Given the description of an element on the screen output the (x, y) to click on. 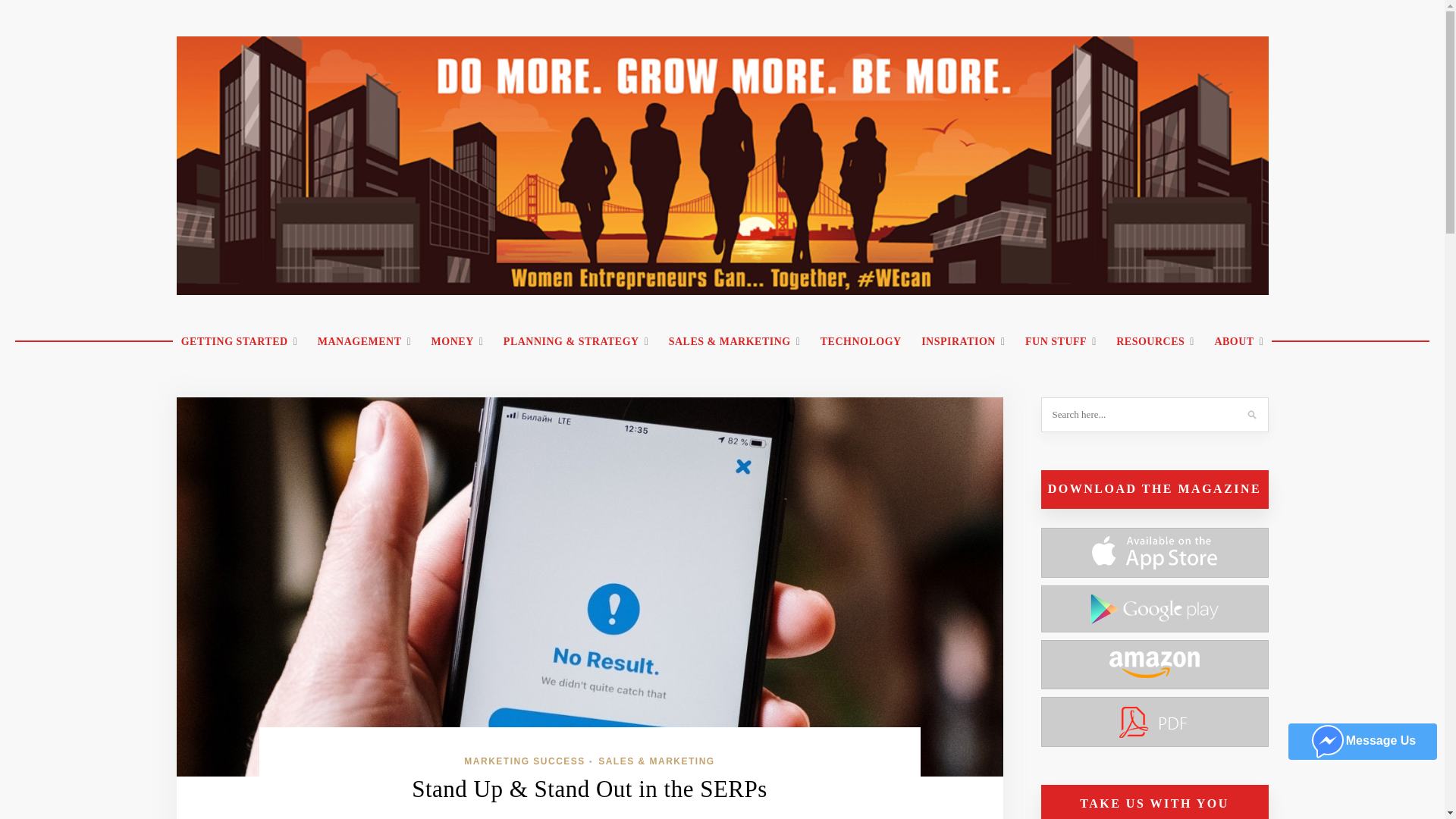
INSPIRATION (962, 341)
MANAGEMENT (363, 341)
GETTING STARTED (239, 341)
FUN STUFF (1060, 341)
TECHNOLOGY (861, 341)
MONEY (456, 341)
